Given the description of an element on the screen output the (x, y) to click on. 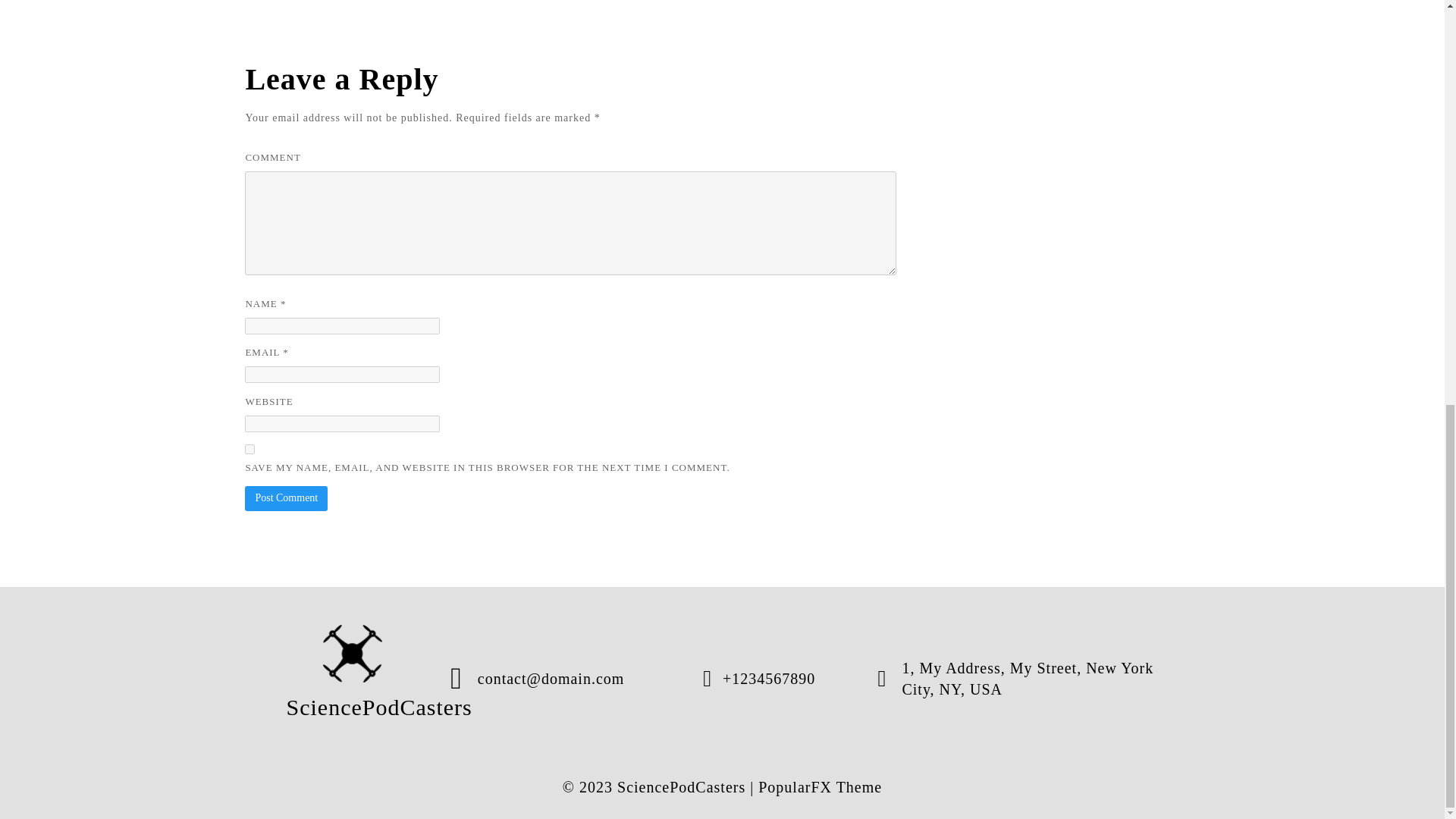
yes (249, 449)
Post Comment (285, 498)
SciencePodCasters (352, 678)
PopularFX Theme (820, 786)
logo (352, 653)
Post Comment (285, 498)
